Given the description of an element on the screen output the (x, y) to click on. 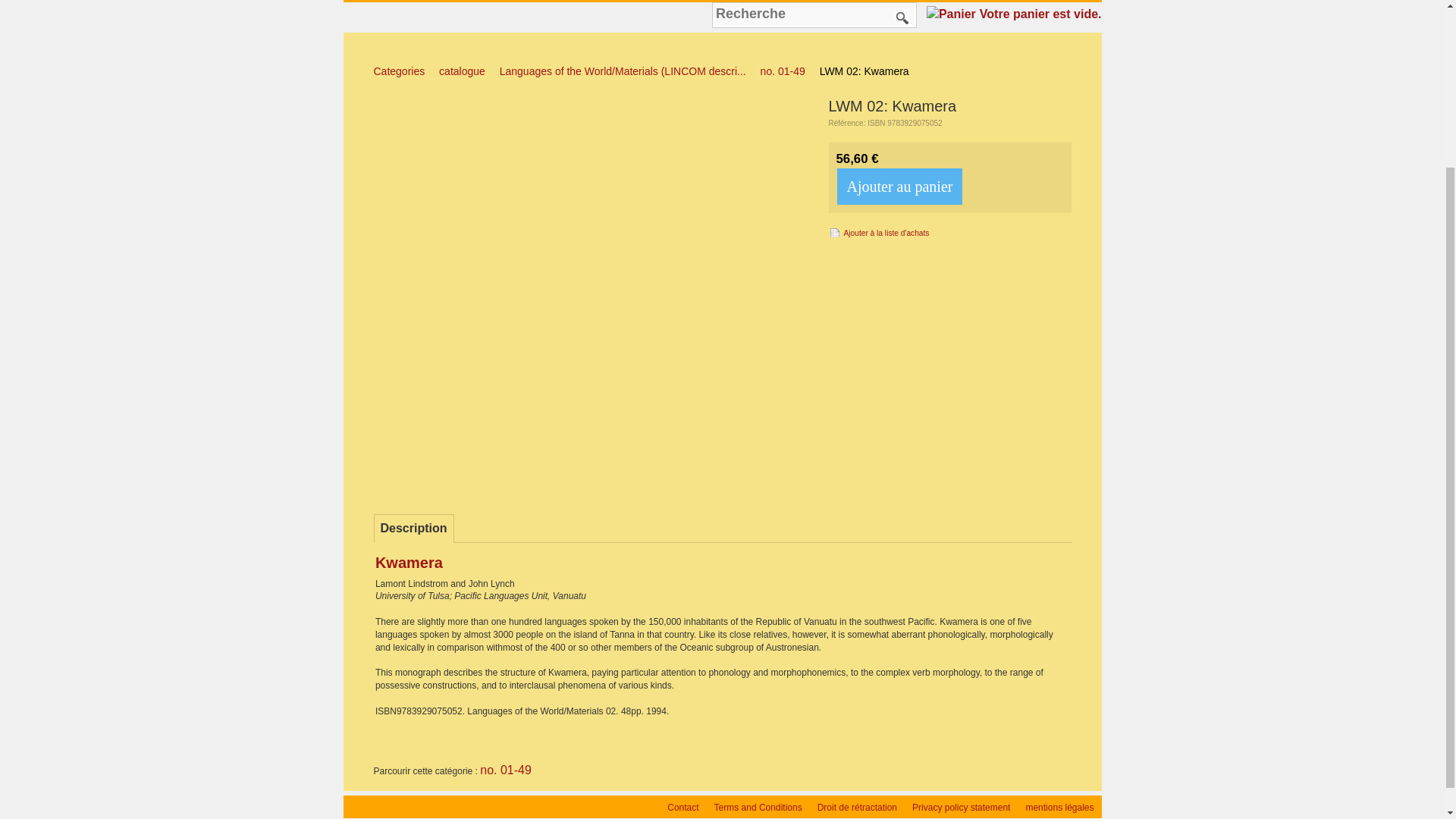
Lancer la recherche (902, 18)
